Given the description of an element on the screen output the (x, y) to click on. 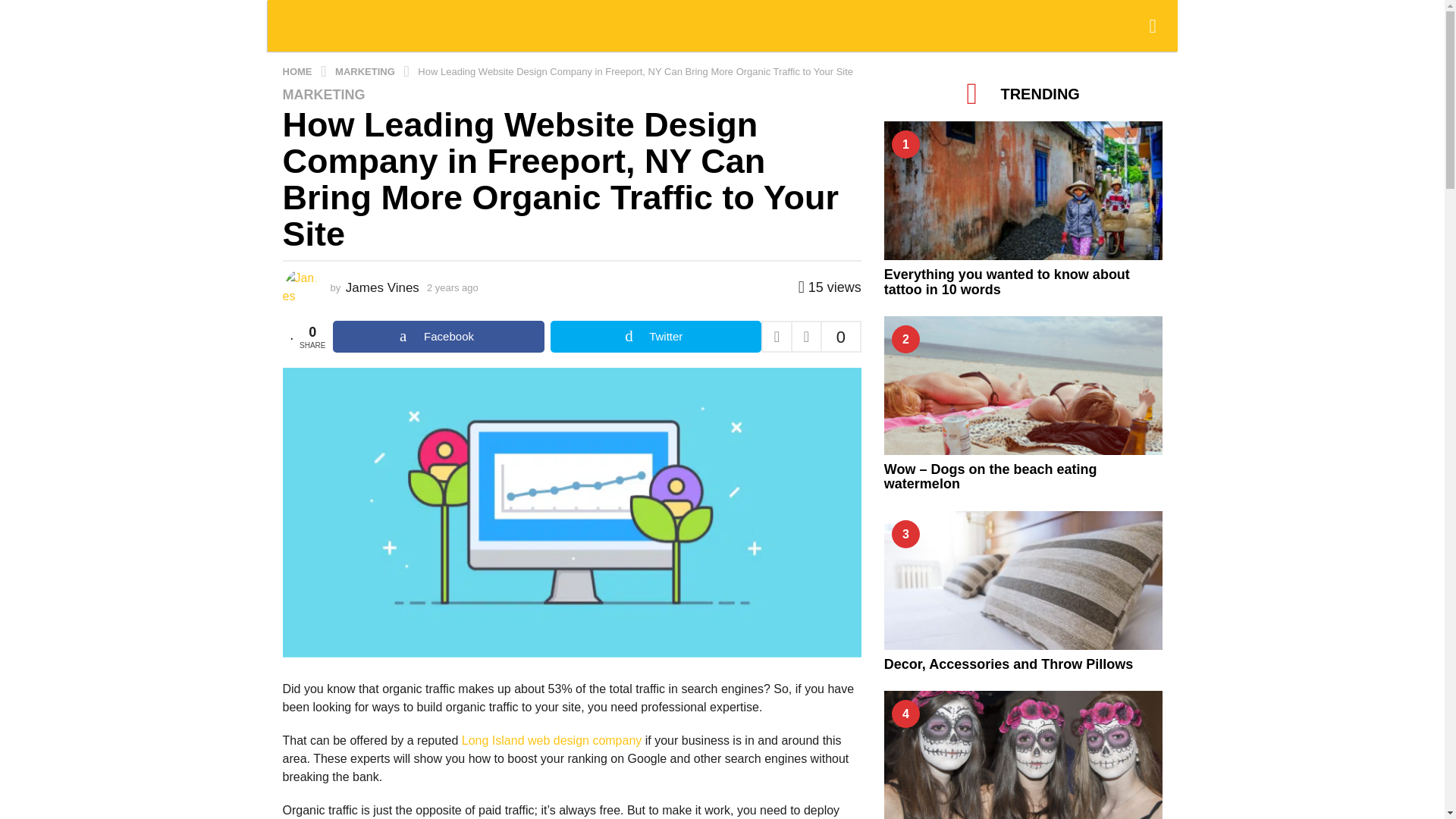
Twitter (655, 336)
Long Island web design company (551, 739)
MARKETING (365, 70)
MARKETING (323, 94)
Share on Facebook (438, 336)
Share on Twitter (655, 336)
James Vines (382, 287)
Facebook (438, 336)
HOME (298, 70)
